Given the description of an element on the screen output the (x, y) to click on. 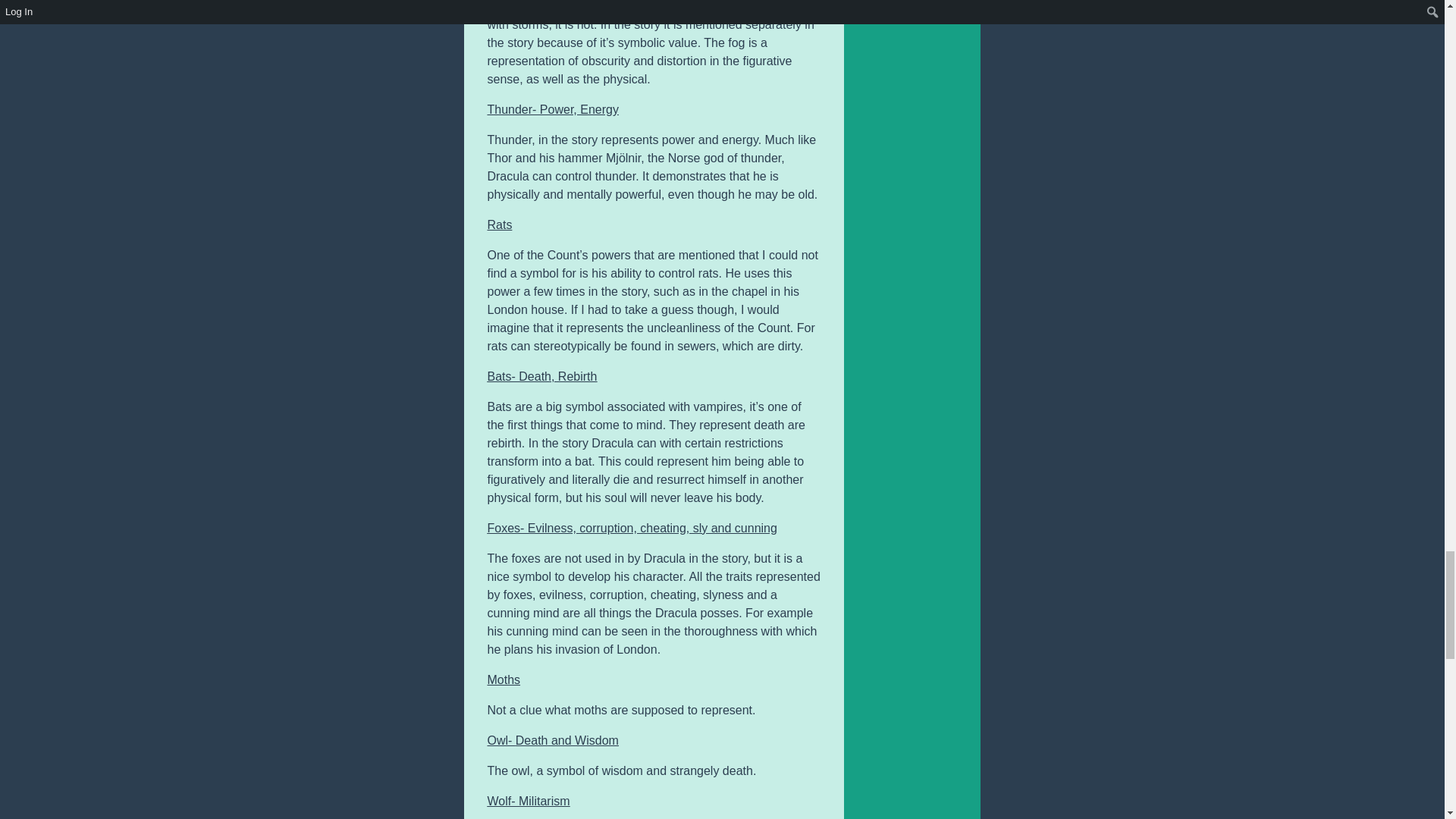
Wisdom (596, 739)
Bats- Death, Rebirth (541, 376)
Death (531, 739)
Foxes- Evilness, corruption, cheating, sly and cunning (631, 527)
Wolf- Militarism (527, 800)
